Given the description of an element on the screen output the (x, y) to click on. 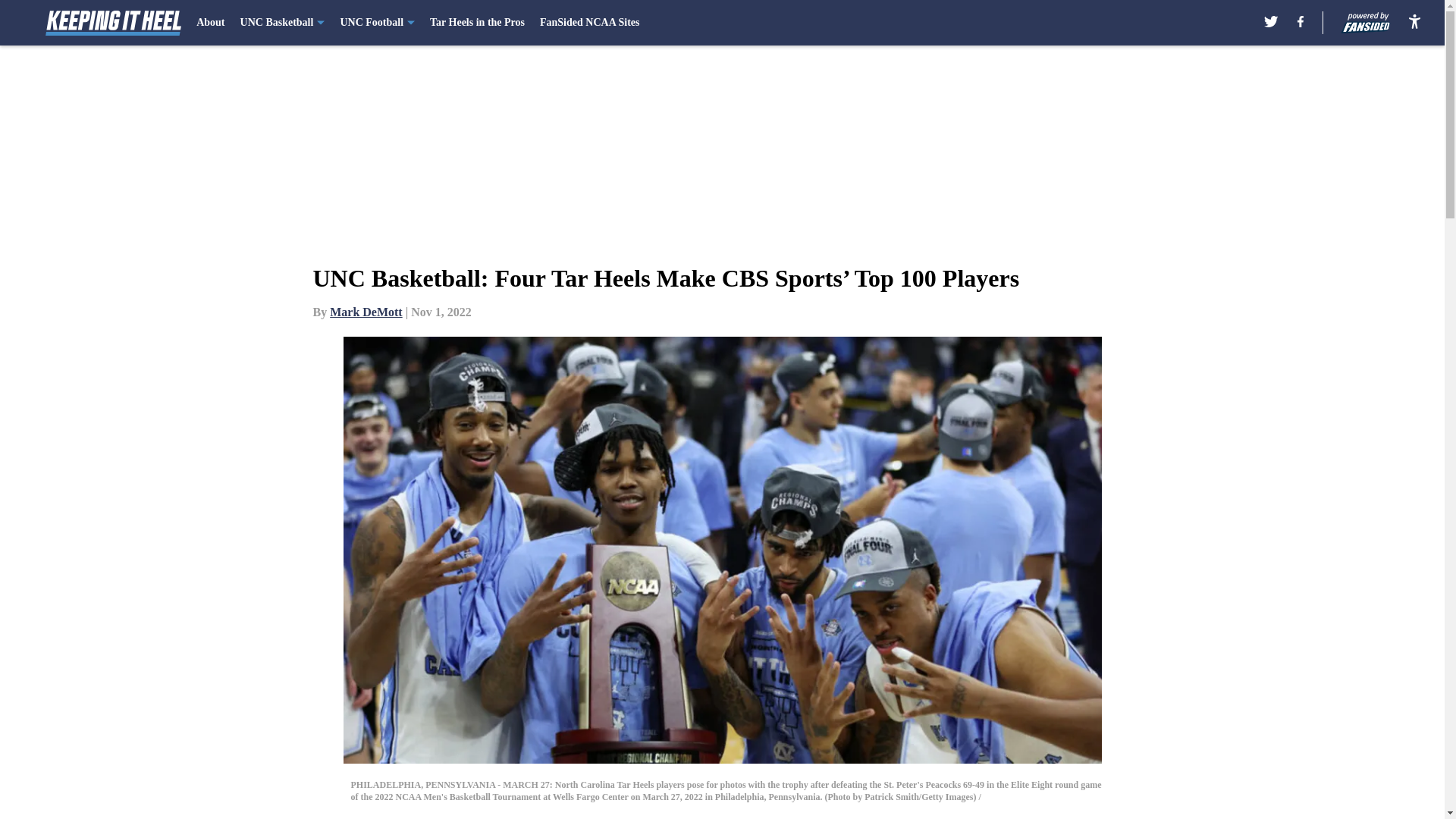
Mark DeMott (366, 311)
About (210, 22)
FanSided NCAA Sites (589, 22)
Tar Heels in the Pros (476, 22)
